Given the description of an element on the screen output the (x, y) to click on. 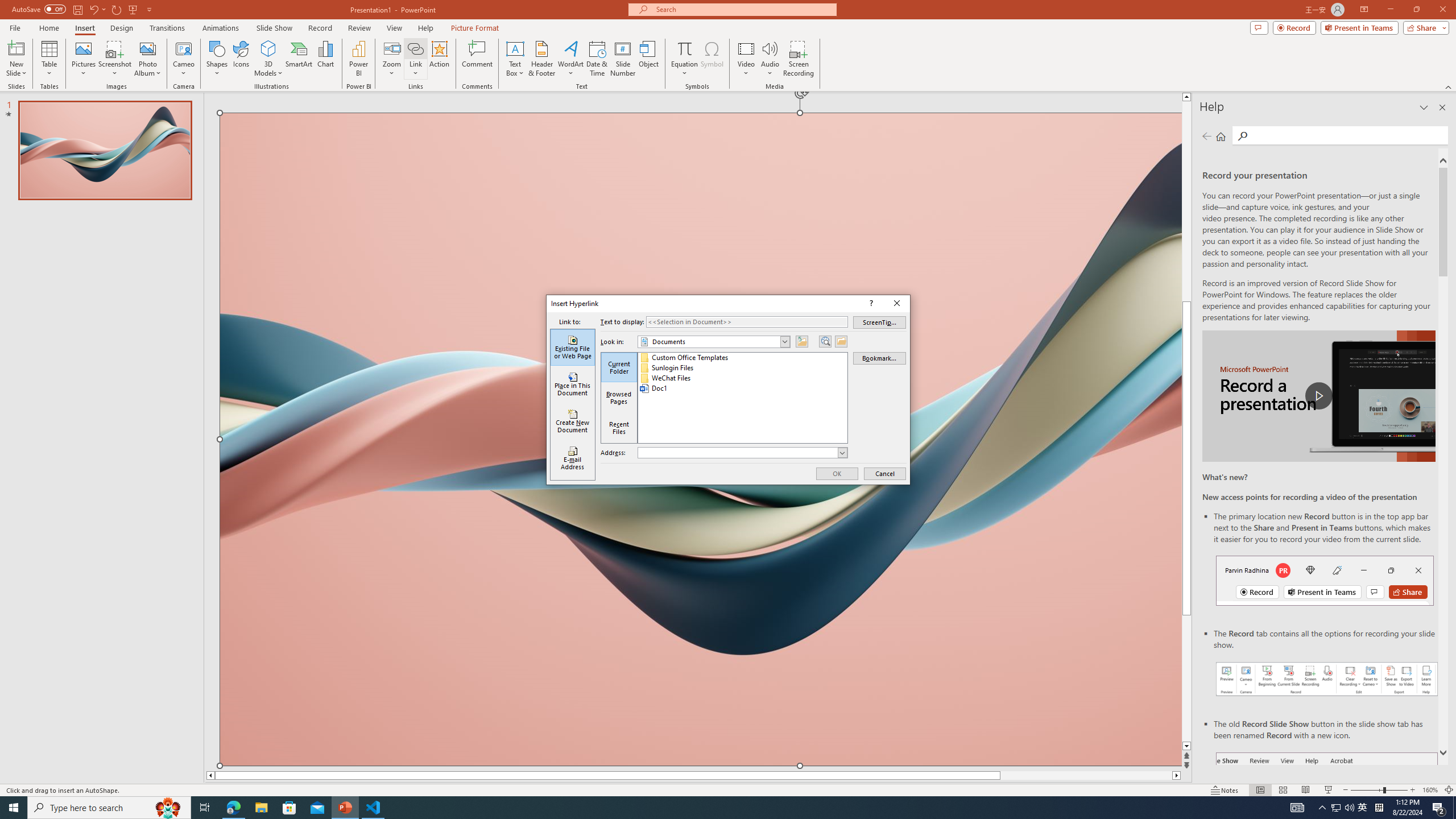
E-mail Address (572, 458)
Photo Album... (147, 58)
Record your presentations screenshot one (1326, 678)
Current Folder (619, 367)
play Record a Presentation (1318, 395)
Previous page (1206, 136)
MSO Generic Control Container (572, 403)
